Given the description of an element on the screen output the (x, y) to click on. 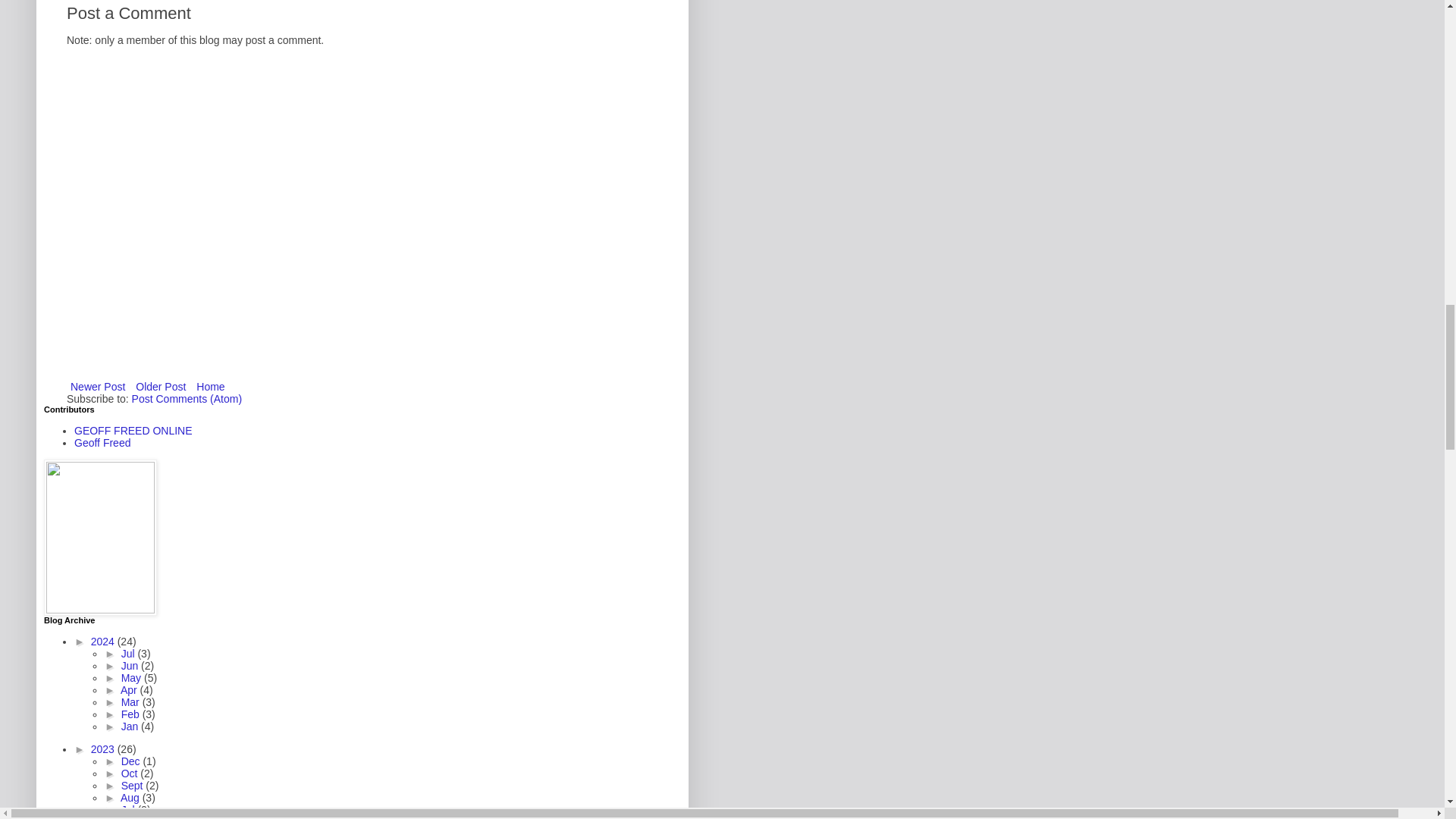
May (132, 677)
Jun (130, 665)
Jan (130, 726)
Home (210, 386)
Feb (131, 714)
Apr (129, 689)
GEOFF FREED ONLINE (133, 430)
Newer Post (97, 386)
2024 (103, 641)
Older Post (160, 386)
Geoff Freed (102, 442)
Newer Post (97, 386)
Jul (129, 653)
2023 (103, 748)
Mar (131, 702)
